Given the description of an element on the screen output the (x, y) to click on. 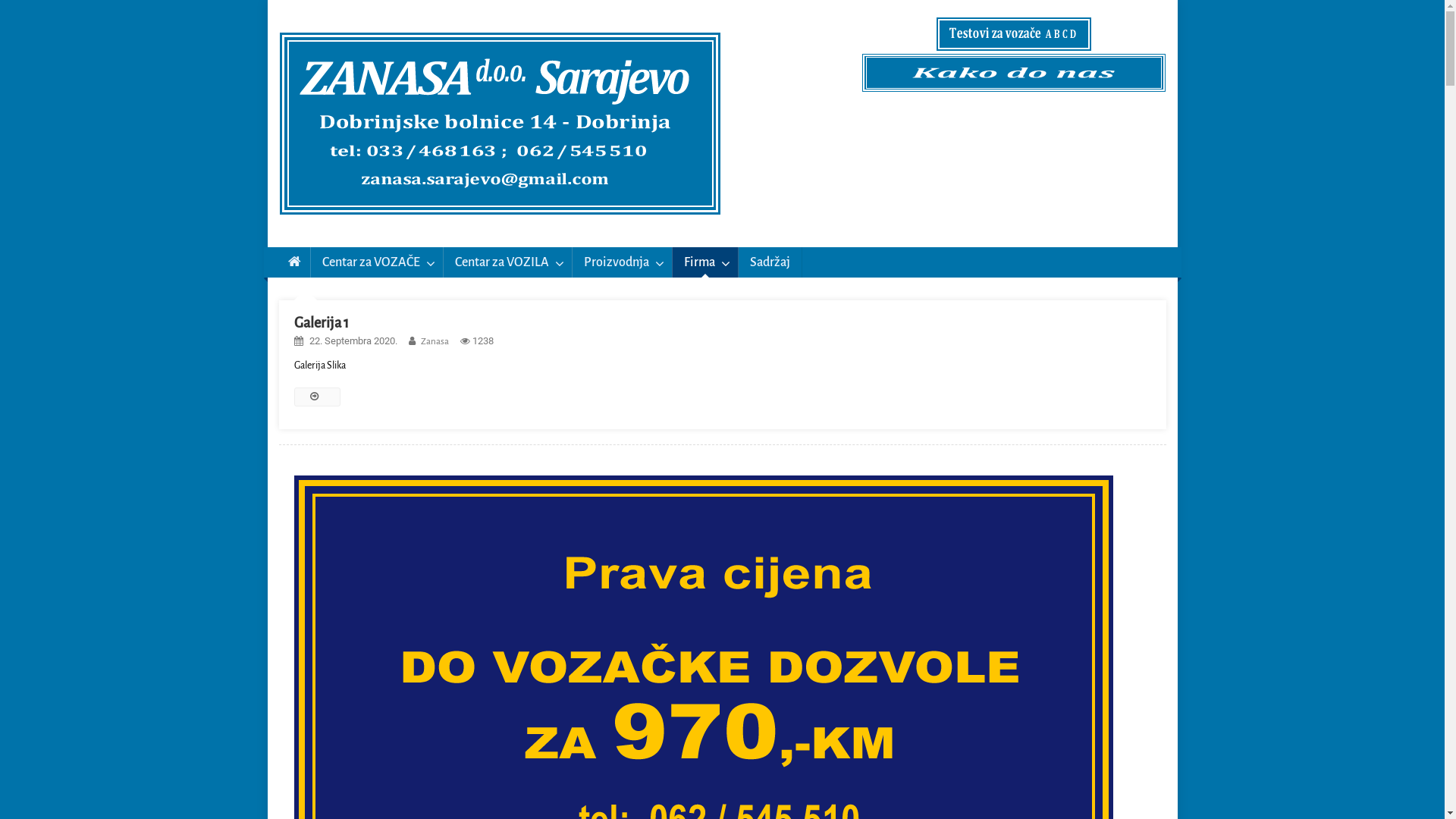
ZANASA Sarajevo Element type: text (364, 231)
Galerija 1 Element type: text (321, 322)
Centar za VOZILA Element type: text (507, 262)
Proizvodnja Element type: text (621, 262)
22. Septembra 2020. Element type: text (353, 340)
Zanasa Element type: text (434, 341)
Firma Element type: text (704, 262)
